Given the description of an element on the screen output the (x, y) to click on. 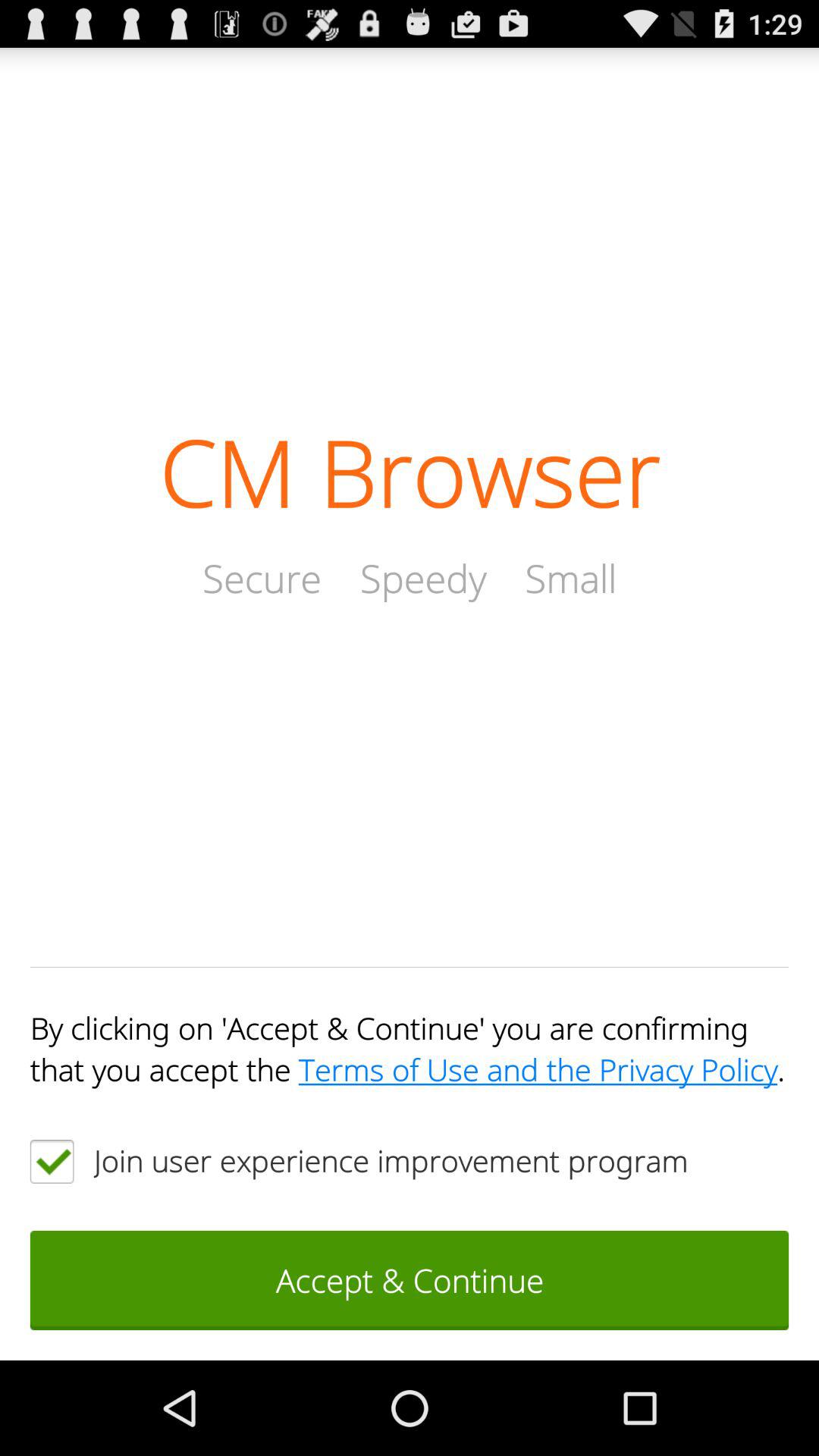
a clickable box for accepting an agreement (51, 1161)
